Given the description of an element on the screen output the (x, y) to click on. 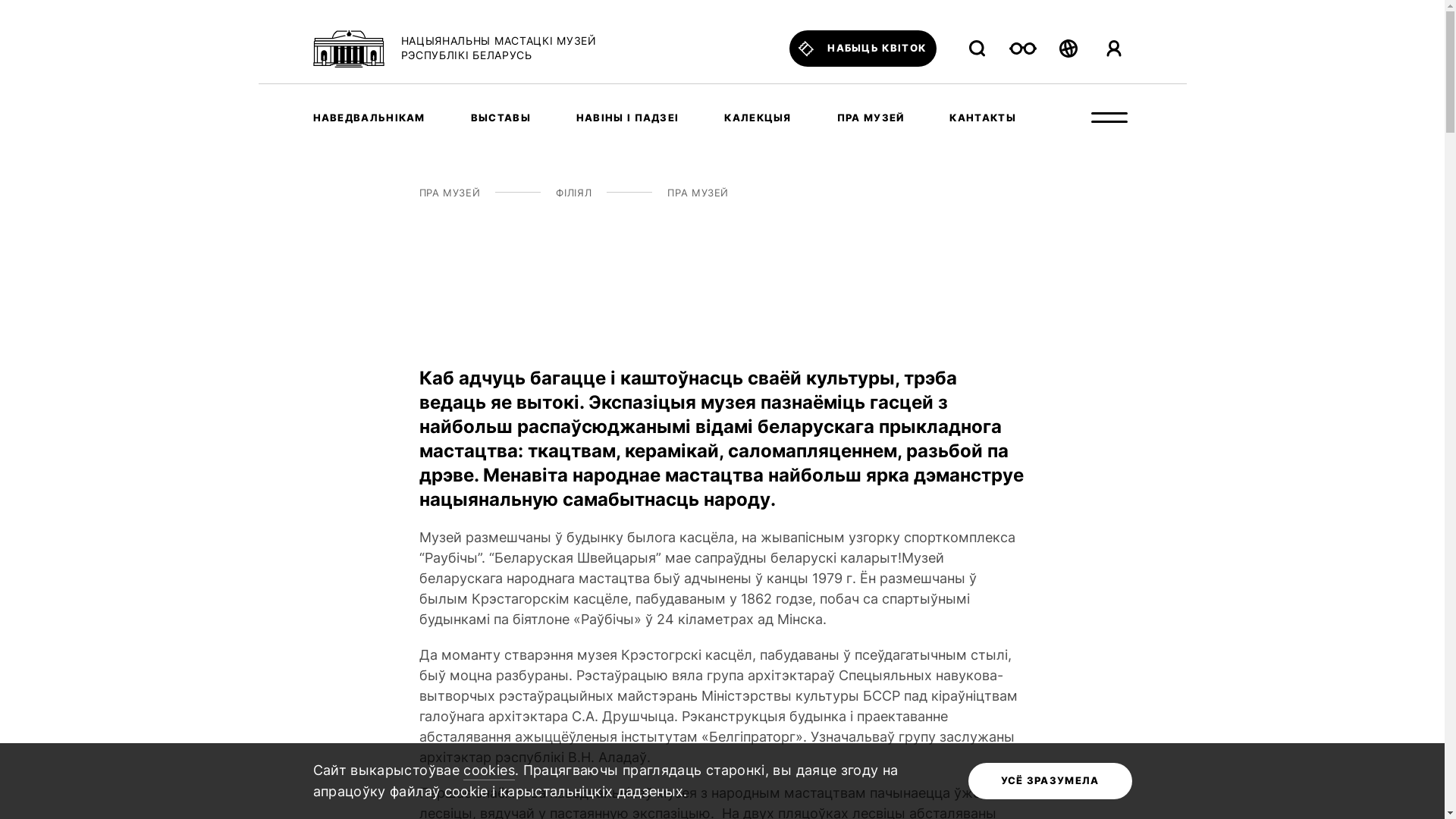
cookies Element type: text (488, 771)
